Given the description of an element on the screen output the (x, y) to click on. 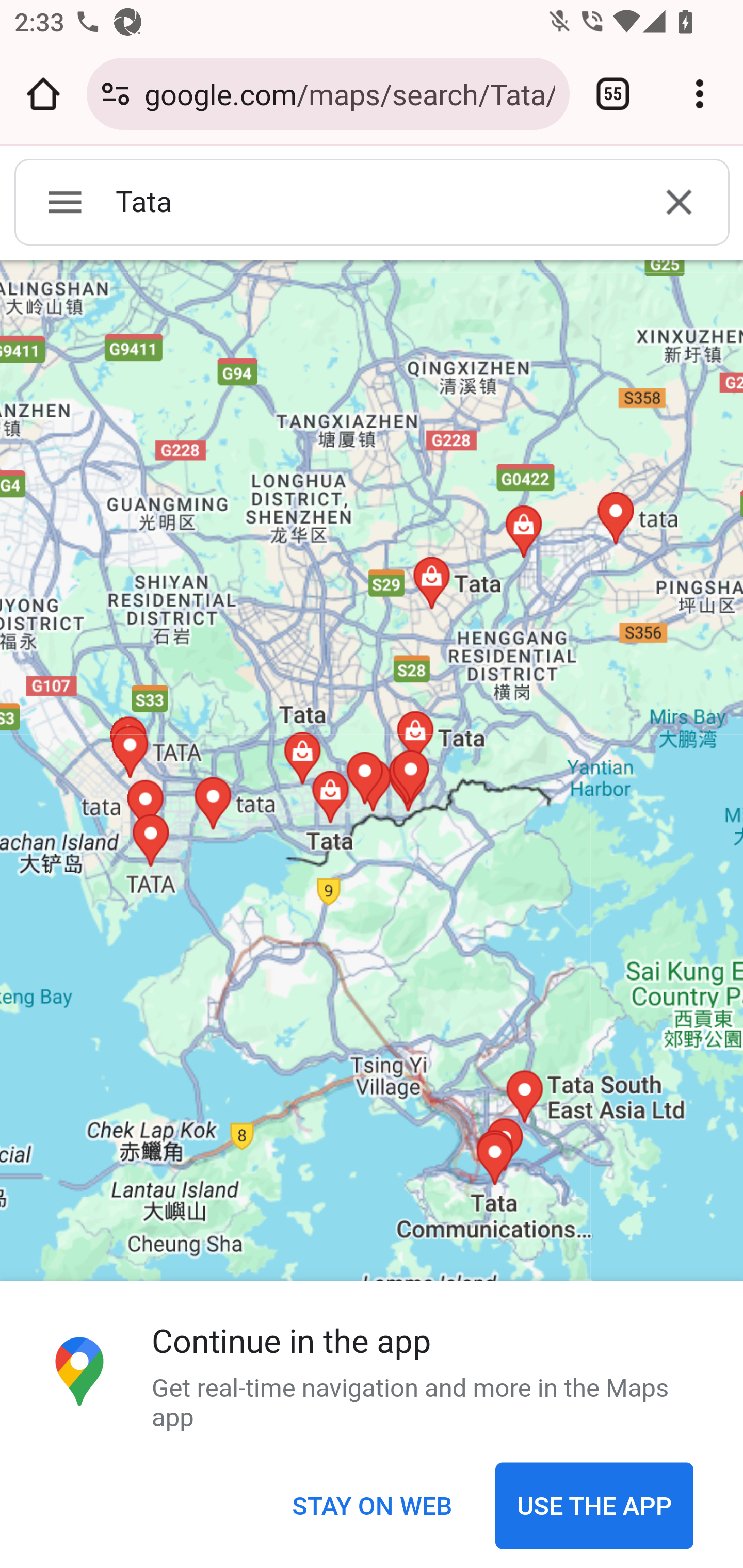
Open the home page (43, 93)
Connection is secure (115, 93)
Switch or close tabs (612, 93)
Customize and control Google Chrome (699, 93)
STAY ON WEB (371, 1506)
USE THE APP (594, 1506)
